Given the description of an element on the screen output the (x, y) to click on. 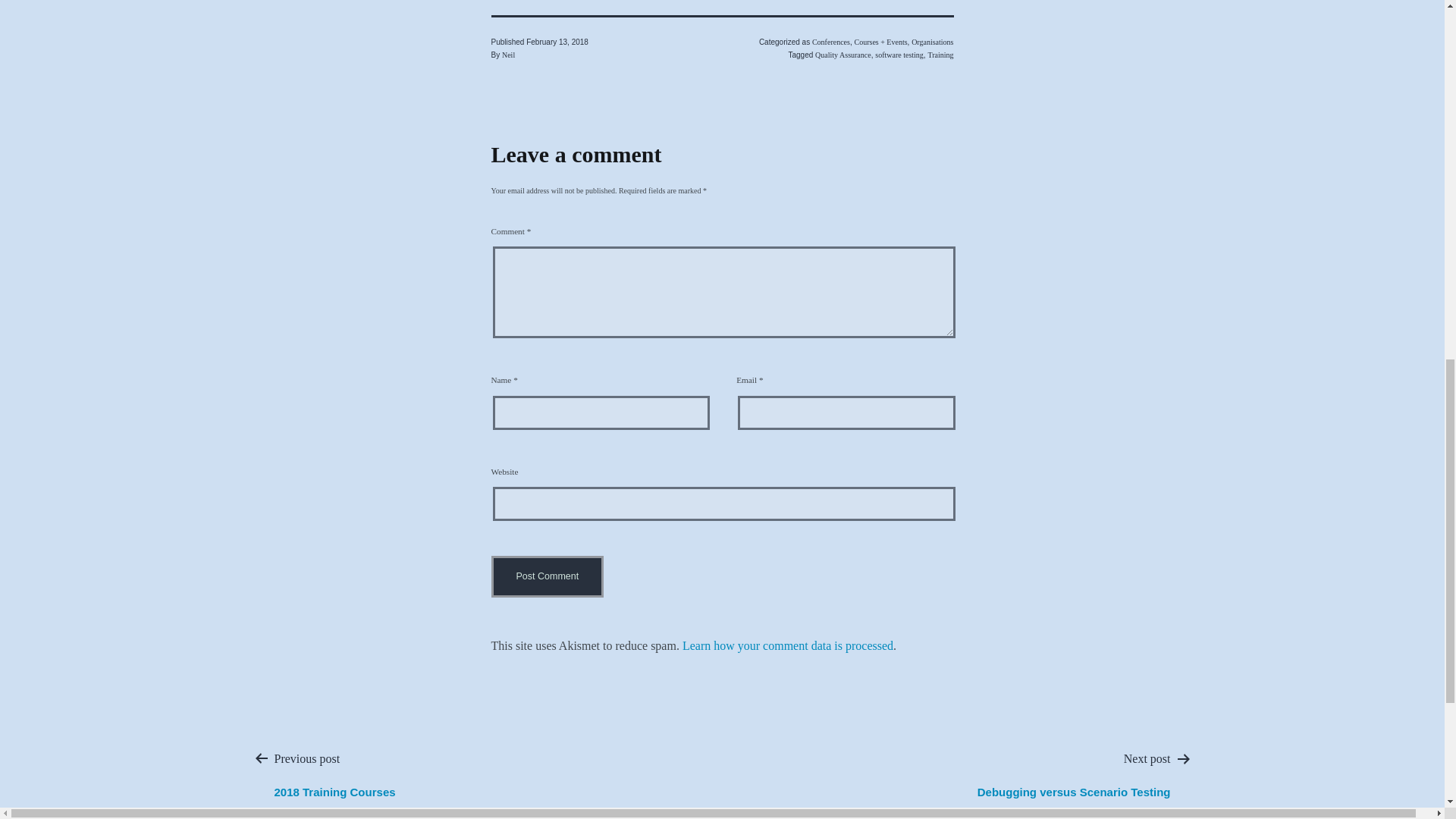
Organisations (932, 41)
Quality Assurance (842, 54)
Neil (508, 54)
Post Comment (548, 576)
Conferences (831, 41)
